Given the description of an element on the screen output the (x, y) to click on. 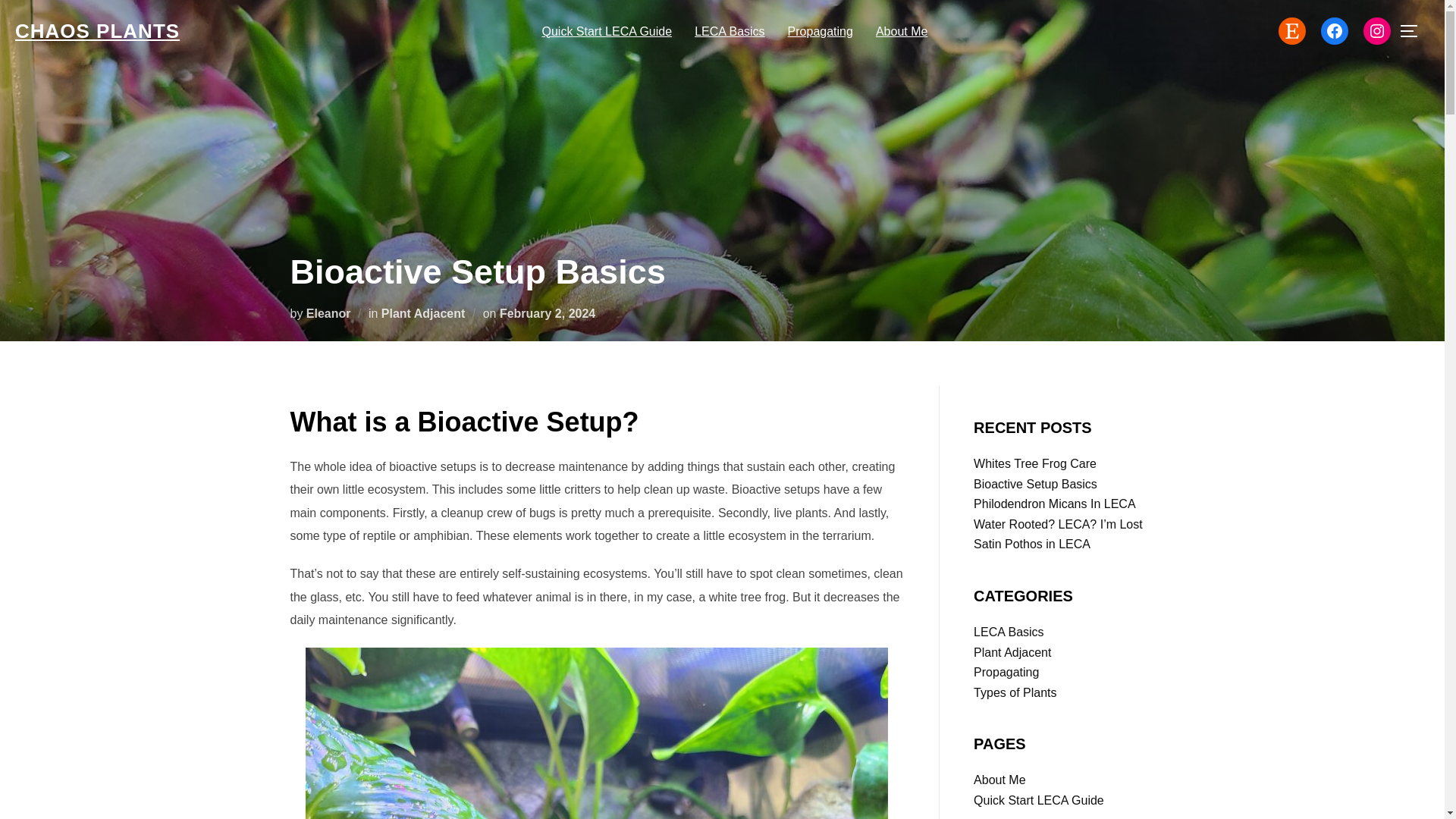
LECA Basics (1008, 631)
Instagram (1376, 31)
Whites Tree Frog Care (1035, 463)
Propagating (820, 30)
Etsy (1292, 31)
Quick Start LECA Guide (1038, 799)
Plant Adjacent (1012, 652)
Propagating (1006, 671)
About Me (901, 30)
Quick Start LECA Guide (606, 30)
Philodendron Micans In LECA (1054, 503)
February 2, 2024 (547, 312)
About Me (999, 779)
Facebook (1334, 31)
Eleanor (327, 312)
